Given the description of an element on the screen output the (x, y) to click on. 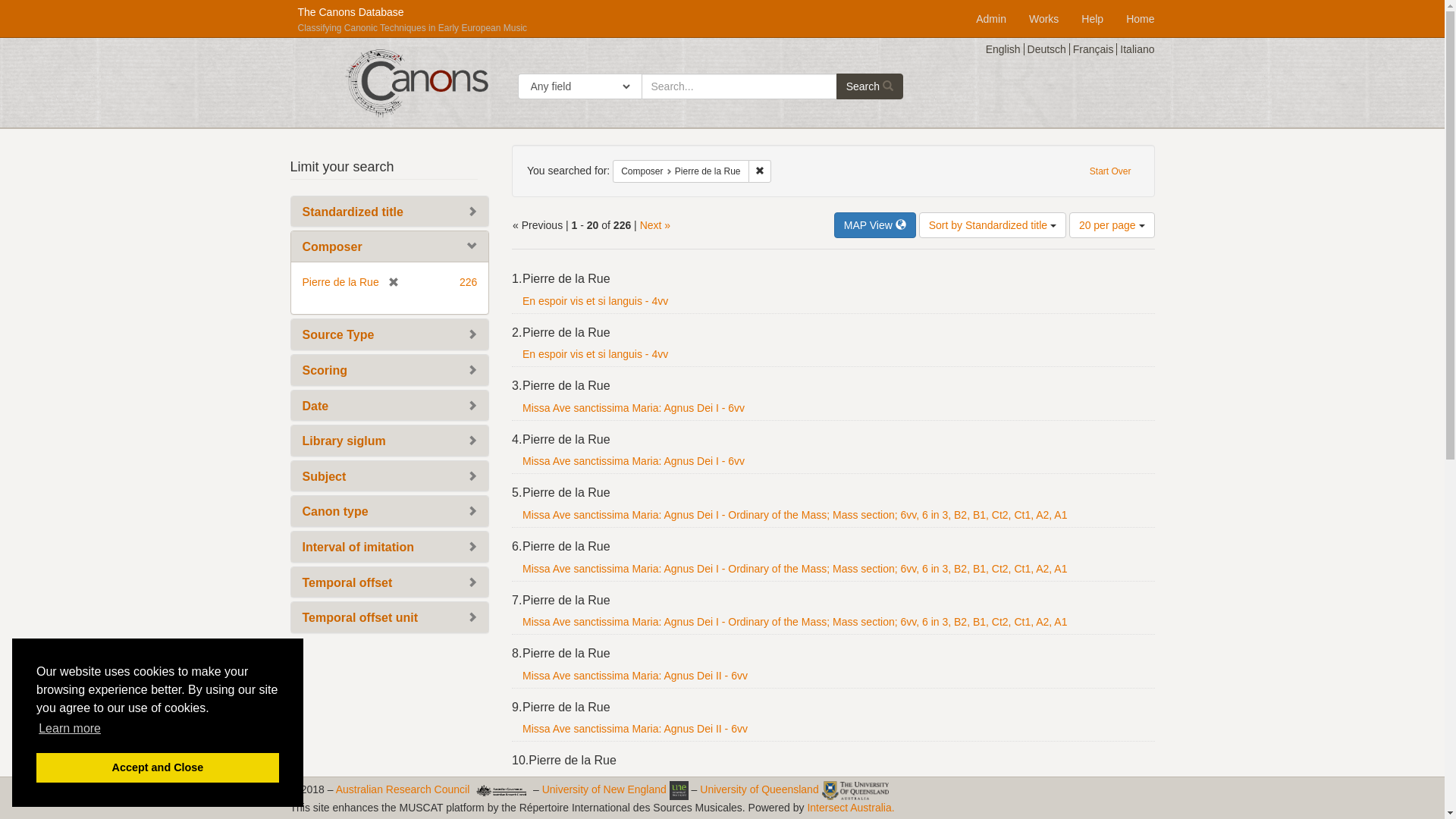
Accept and Close Element type: text (157, 767)
Sort by Standardized title Element type: text (992, 225)
Search Element type: text (869, 86)
Standardized title Element type: text (351, 211)
Remove constraint Composer: Pierre de la Rue Element type: text (759, 171)
Missa Ave sanctissima Maria: Agnus Dei I - 6vv Element type: text (633, 461)
Works Element type: text (1043, 13)
MAP View Element type: text (875, 225)
En espoir vis et si languis - 4vv Element type: text (595, 300)
University of Queensland Element type: text (758, 789)
Home Element type: text (1139, 13)
Australian Research Council Element type: text (402, 789)
Italiano Element type: text (1137, 49)
Help Element type: text (1092, 13)
Deutsch Element type: text (1048, 49)
Interval of imitation Element type: text (357, 546)
Missa Ave sanctissima Maria: Agnus Dei I - 6vv Element type: text (633, 407)
Scoring Element type: text (324, 370)
Subject Element type: text (323, 476)
Canon type Element type: text (334, 511)
Temporal offset Element type: text (346, 582)
Source Type Element type: text (337, 334)
Intersect Australia. Element type: text (850, 807)
Date Element type: text (314, 405)
Missa Ave sanctissima Maria: Agnus Dei II - 6vv Element type: text (634, 675)
University of New England Element type: text (604, 789)
English Element type: text (1004, 49)
En espoir vis et si languis - 4vv Element type: text (595, 354)
Temporal offset unit Element type: text (359, 617)
Library siglum Element type: text (343, 440)
Missa Ave sanctissima Maria: Agnus Dei II - 6vv Element type: text (634, 728)
[remove] Element type: text (388, 282)
Start Over Element type: text (1110, 171)
Learn more Element type: text (69, 728)
Composer Element type: text (331, 246)
20 per page Element type: text (1111, 225)
Admin Element type: text (990, 13)
